Given the description of an element on the screen output the (x, y) to click on. 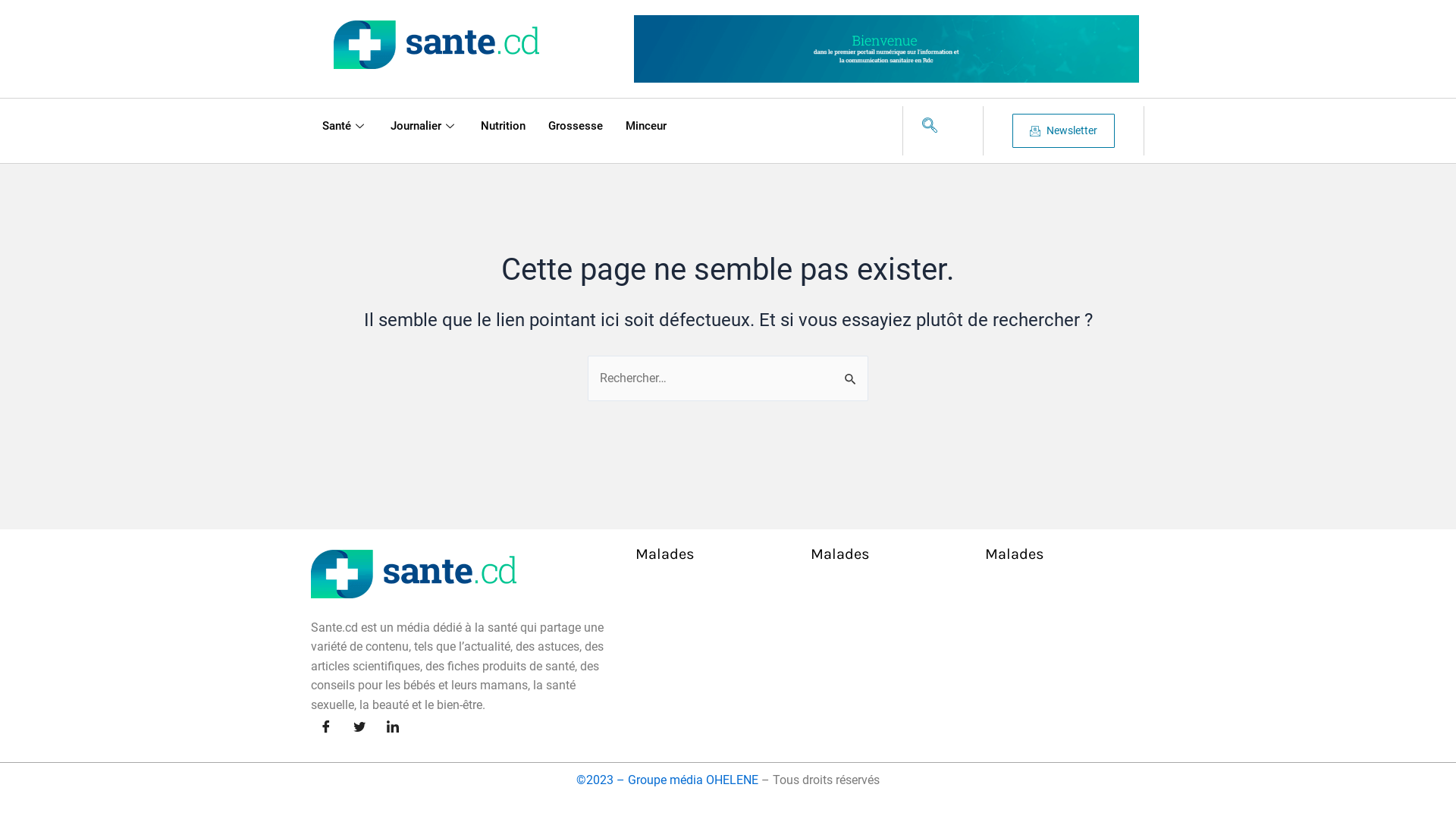
Rechercher Element type: text (851, 371)
Nutrition Element type: text (502, 125)
Minceur Element type: text (645, 125)
Journalier Element type: text (424, 125)
Grossesse Element type: text (575, 125)
Newsletter Element type: text (1063, 130)
